Given the description of an element on the screen output the (x, y) to click on. 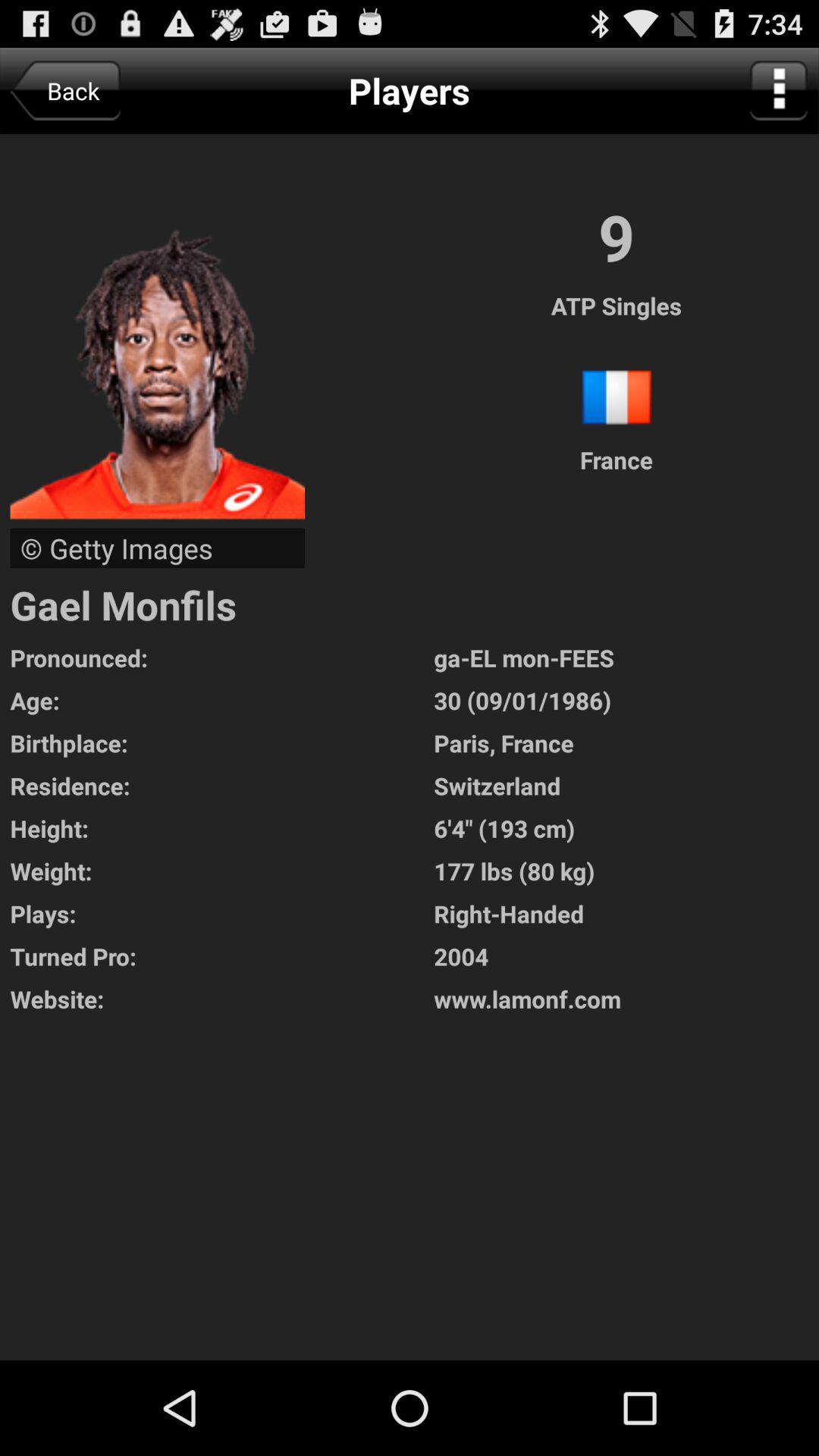
swipe until the plays: icon (221, 913)
